Given the description of an element on the screen output the (x, y) to click on. 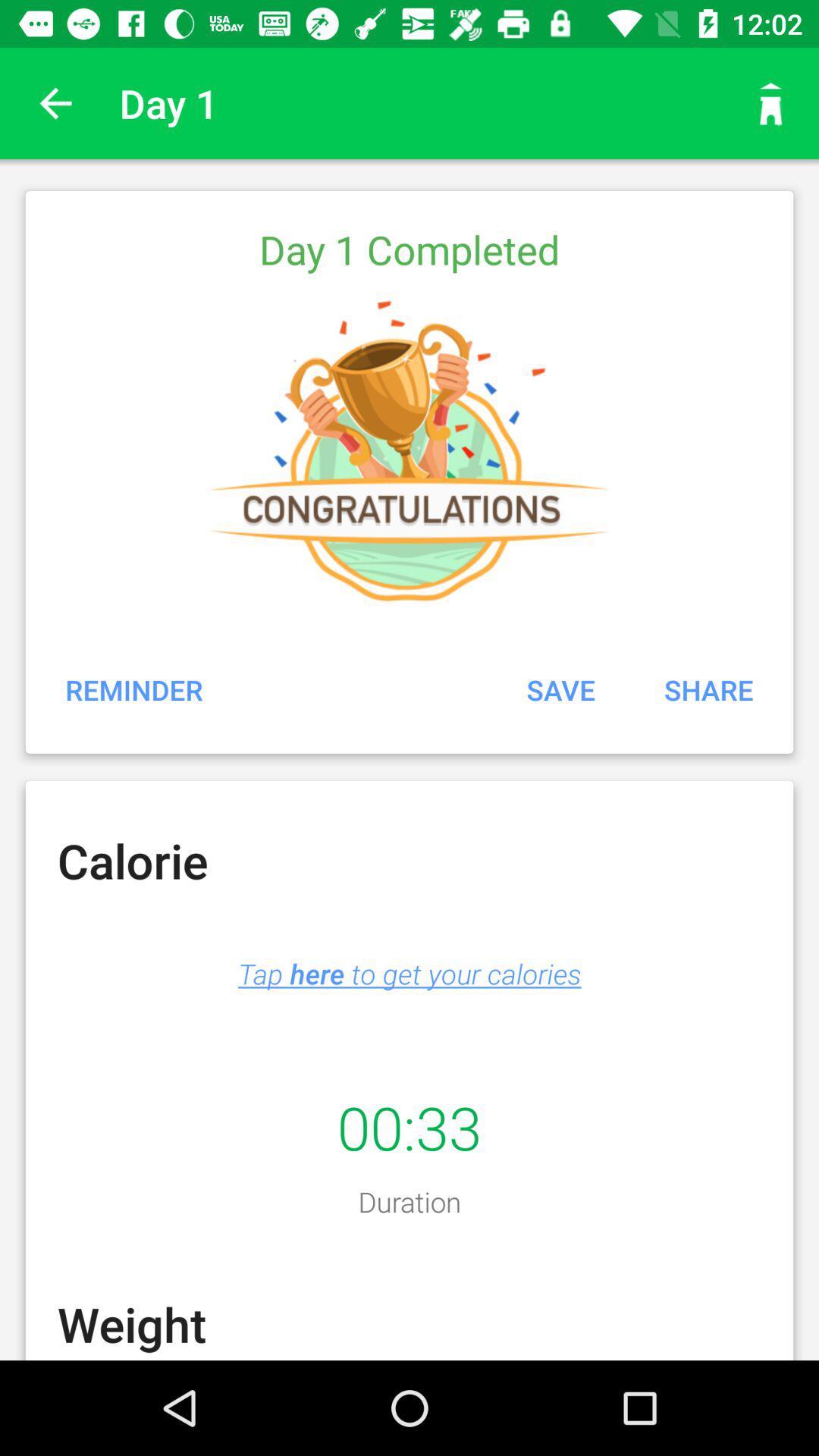
click the icon above the tap here to item (560, 689)
